Given the description of an element on the screen output the (x, y) to click on. 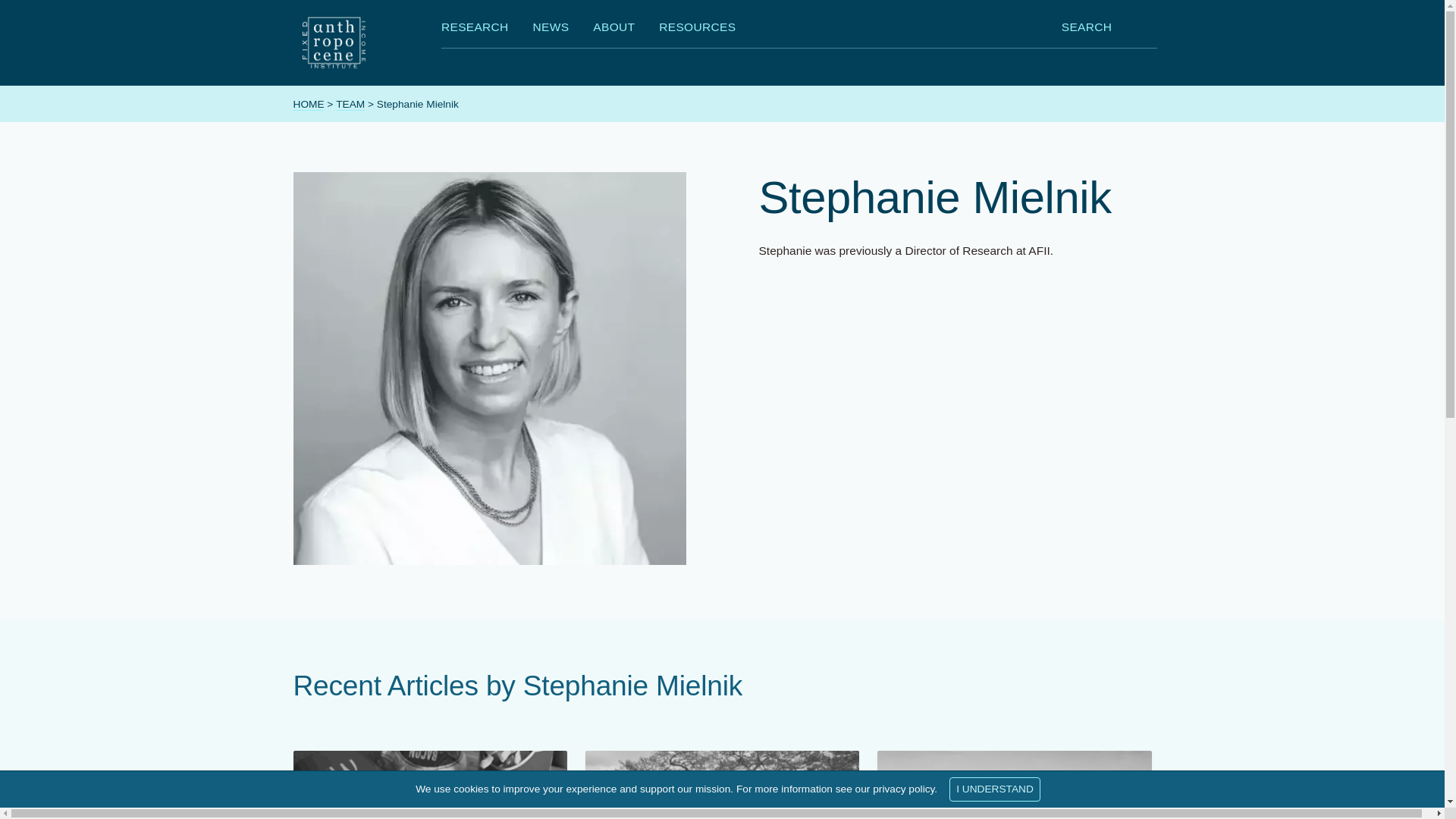
Tree bw (722, 785)
TEAM (350, 103)
HOME (307, 103)
ABOUT (613, 29)
Mc Donalds (429, 785)
NEWS (550, 29)
RESEARCH (474, 29)
RESOURCES (697, 29)
